Given the description of an element on the screen output the (x, y) to click on. 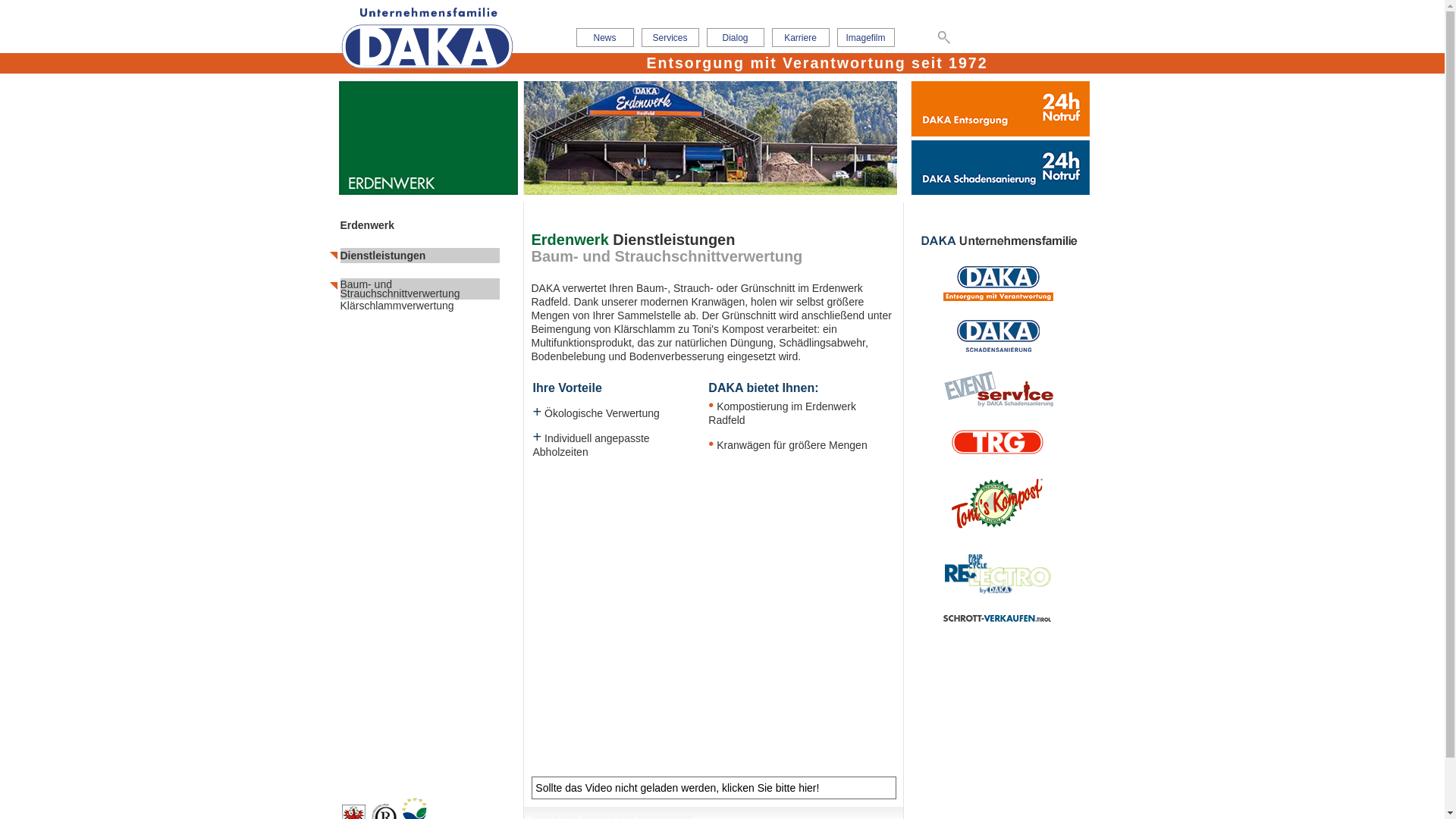
Baum- und Strauchschnittverwertung Element type: text (418, 288)
Daka Element type: hover (998, 349)
Search Element type: hover (942, 36)
Erdenwerk Element type: text (418, 224)
DAKA Erdenwerk Element type: hover (998, 505)
DAKA Element type: hover (998, 335)
TRG Element type: hover (998, 442)
TRG Element type: hover (998, 454)
Services Element type: text (670, 37)
daka_unternehmerfamilie.png Element type: hover (997, 240)
Dialog Element type: text (735, 37)
Dienstleistungen Element type: text (418, 255)
Daka Schadensanierung Notruf Element type: hover (1000, 167)
Erdenwerk Element type: hover (998, 533)
Imagefilm Element type: text (865, 37)
News Element type: text (604, 37)
Karriere Element type: text (800, 37)
Home Element type: hover (439, 37)
Daka Element type: hover (998, 297)
Daka Entsorgung Notruf Element type: hover (1000, 108)
DAKA Element type: hover (998, 283)
